Given the description of an element on the screen output the (x, y) to click on. 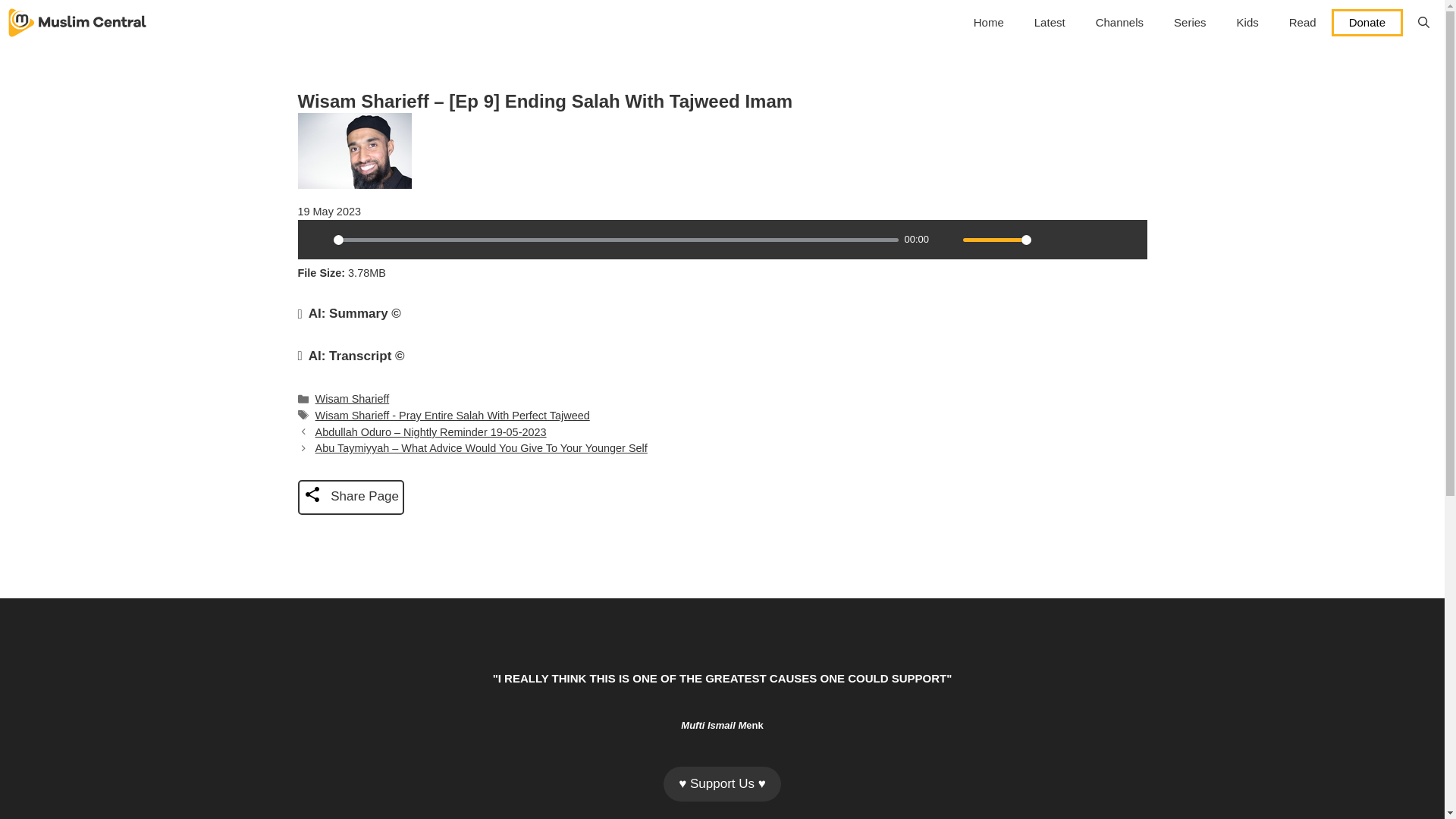
Rewind 10s (1101, 239)
Muslim Central (77, 22)
Series (1189, 22)
0 (615, 239)
Read (1303, 22)
Download (1074, 239)
1 (996, 239)
Play (316, 239)
Settings (1048, 239)
Channels (1119, 22)
